Given the description of an element on the screen output the (x, y) to click on. 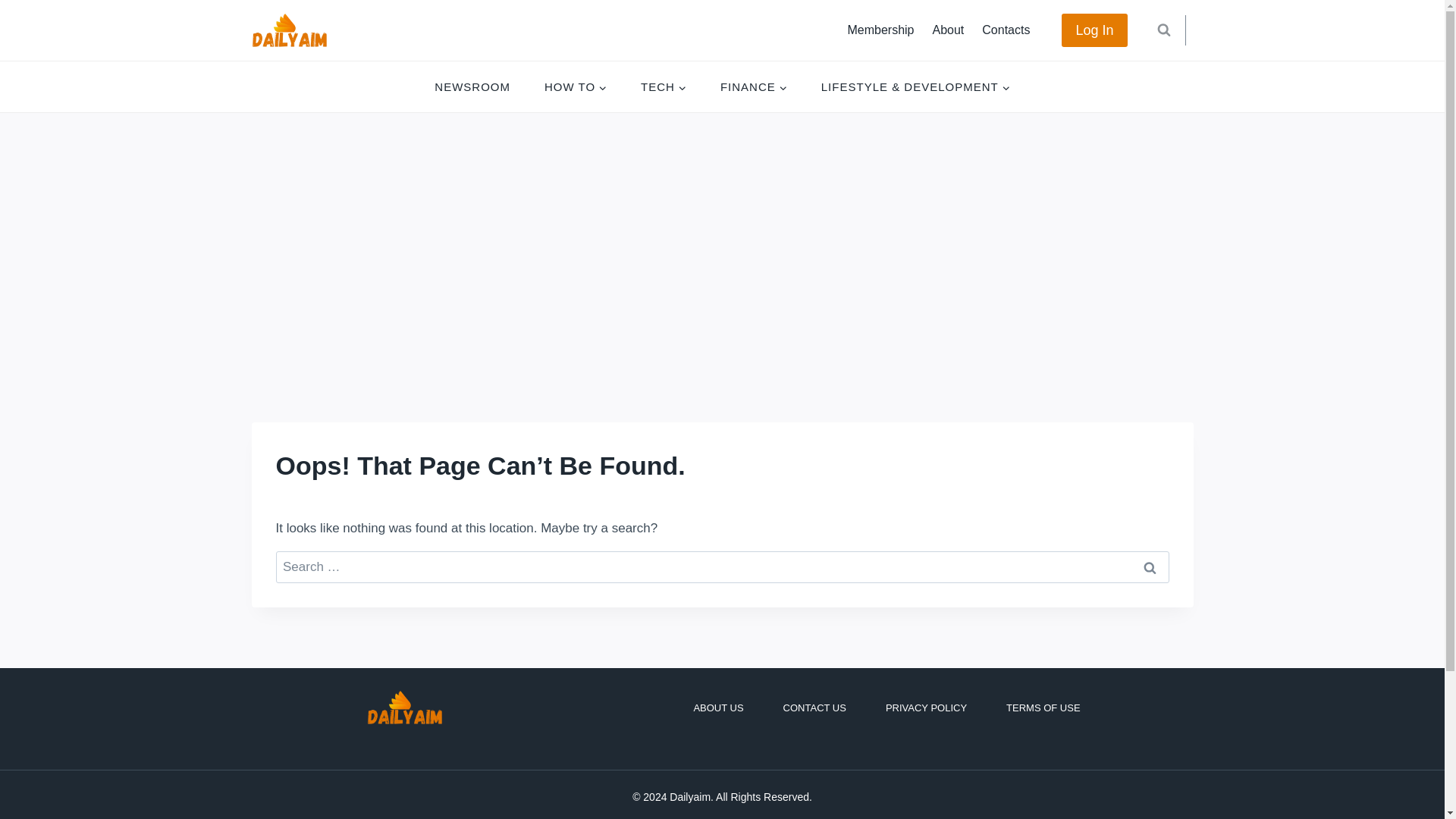
HOW TO (575, 86)
NEWSROOM (472, 86)
Membership (880, 30)
Contacts (1005, 30)
Log In (1093, 29)
About (948, 30)
FINANCE (753, 86)
Search (1150, 567)
Search (1150, 567)
